Given the description of an element on the screen output the (x, y) to click on. 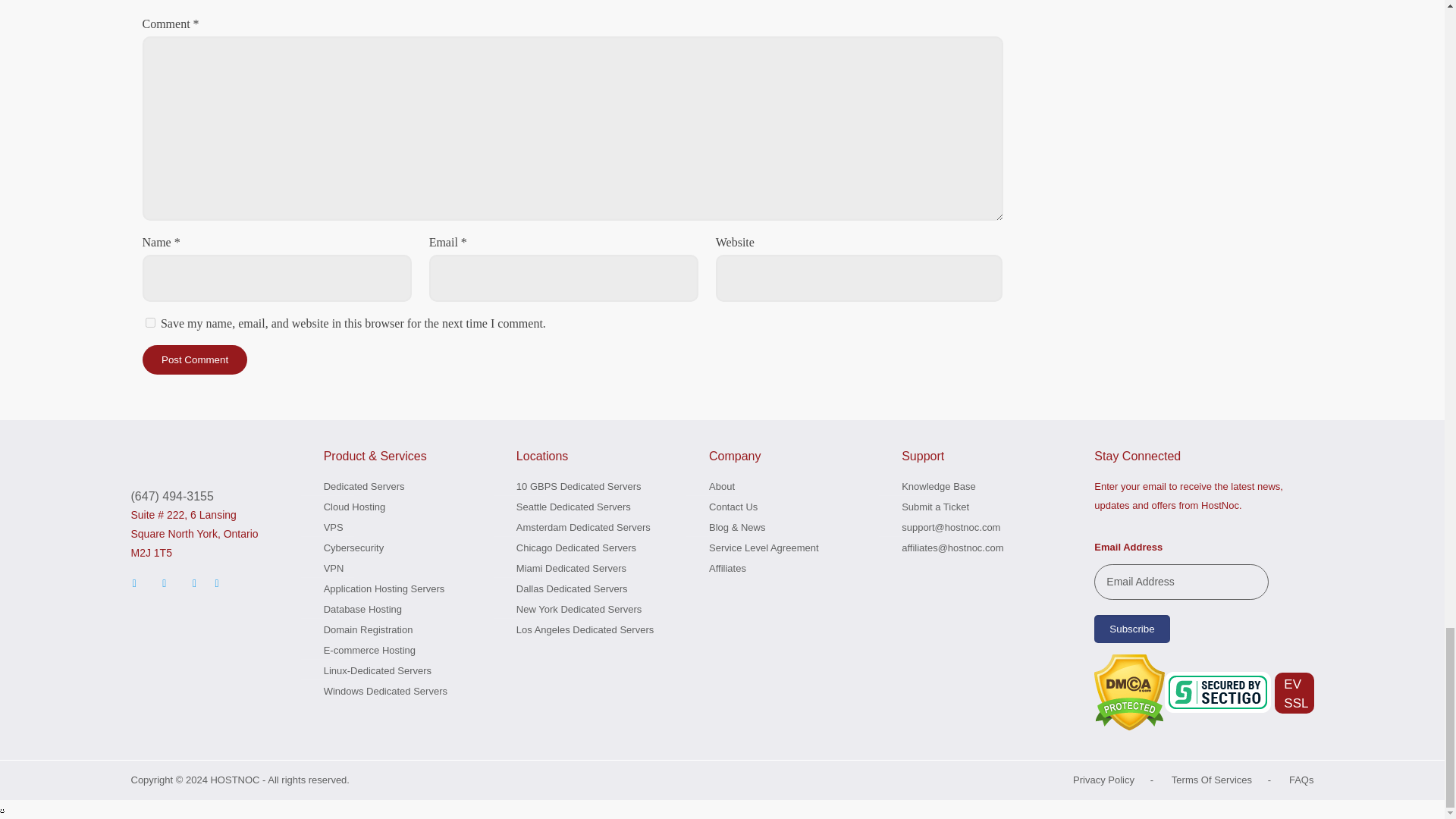
Post Comment (194, 359)
facebook (164, 582)
twitter (135, 582)
yes (150, 322)
